Given the description of an element on the screen output the (x, y) to click on. 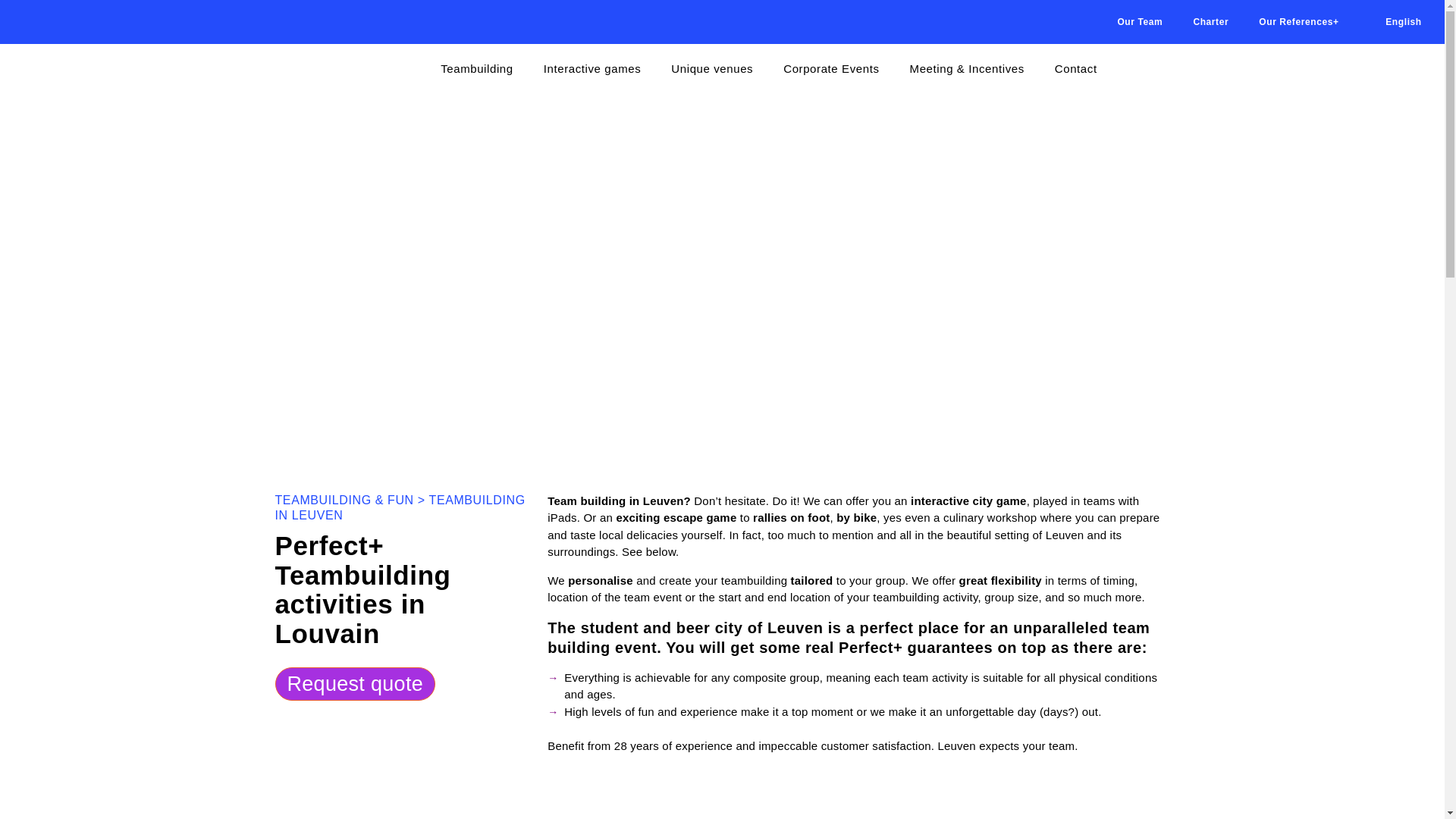
English (1395, 21)
Teambuilding (476, 68)
English (1395, 21)
Our Team (1139, 21)
Charter (1210, 21)
